Given the description of an element on the screen output the (x, y) to click on. 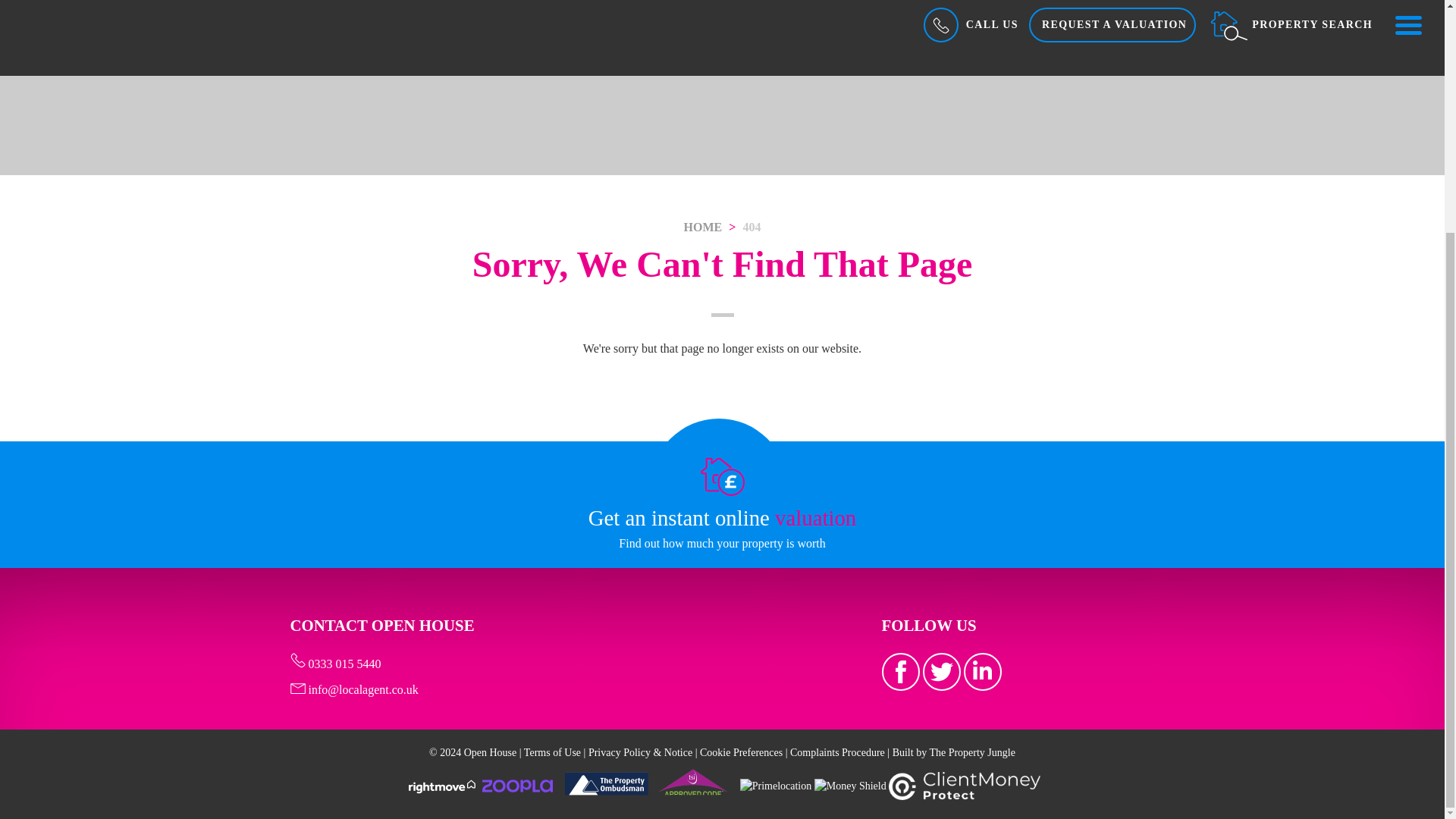
Terms of Use (552, 752)
Complaints Procedure (837, 752)
Privacy Policy (640, 752)
Terms of Use (552, 752)
Cookie Preferences (741, 752)
Built by The Property Jungle (953, 752)
0333 015 5440 (334, 663)
404 (751, 226)
HOME (703, 226)
